Given the description of an element on the screen output the (x, y) to click on. 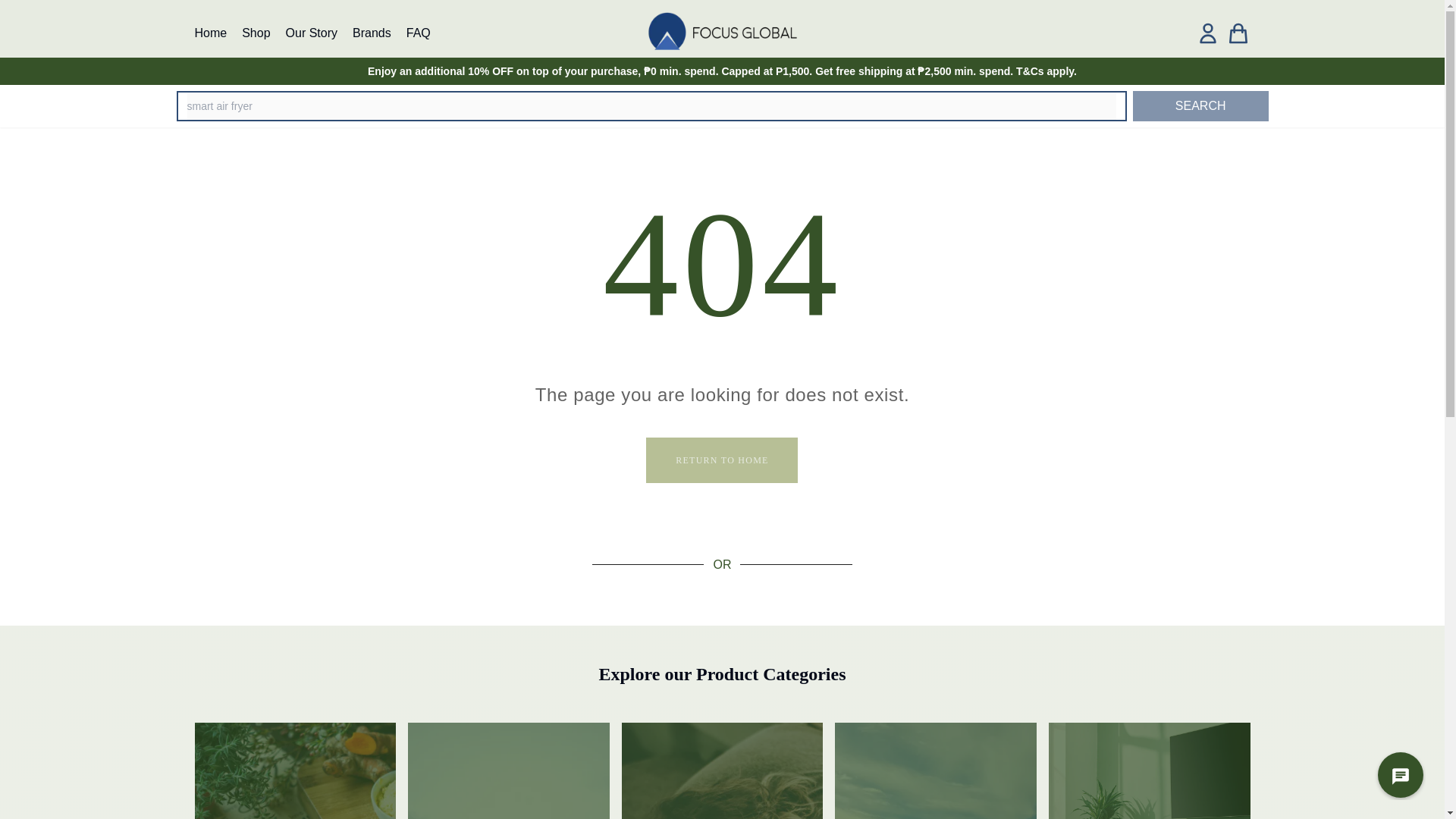
Our Story (311, 32)
Brands (371, 32)
Home (210, 32)
RETURN TO HOME (721, 460)
SEARCH (1200, 105)
Webchat Widget (1390, 766)
FAQ (418, 32)
